Given the description of an element on the screen output the (x, y) to click on. 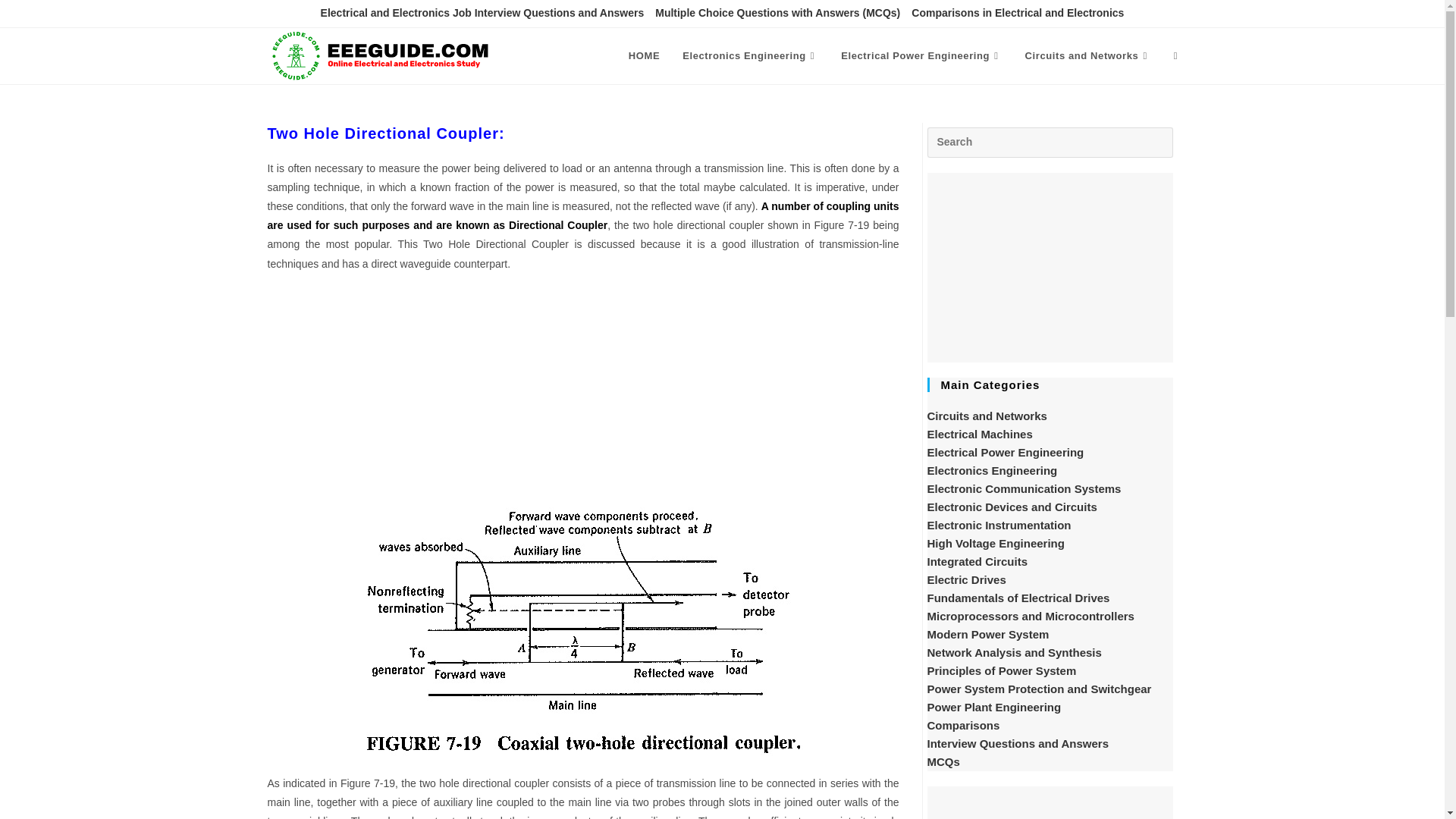
Electrical Power Engineering (921, 55)
Advertisement (582, 395)
Comparisons in Electrical and Electronics (1017, 13)
Electronics Engineering (750, 55)
Circuits and Networks (1087, 55)
HOME (644, 55)
